Given the description of an element on the screen output the (x, y) to click on. 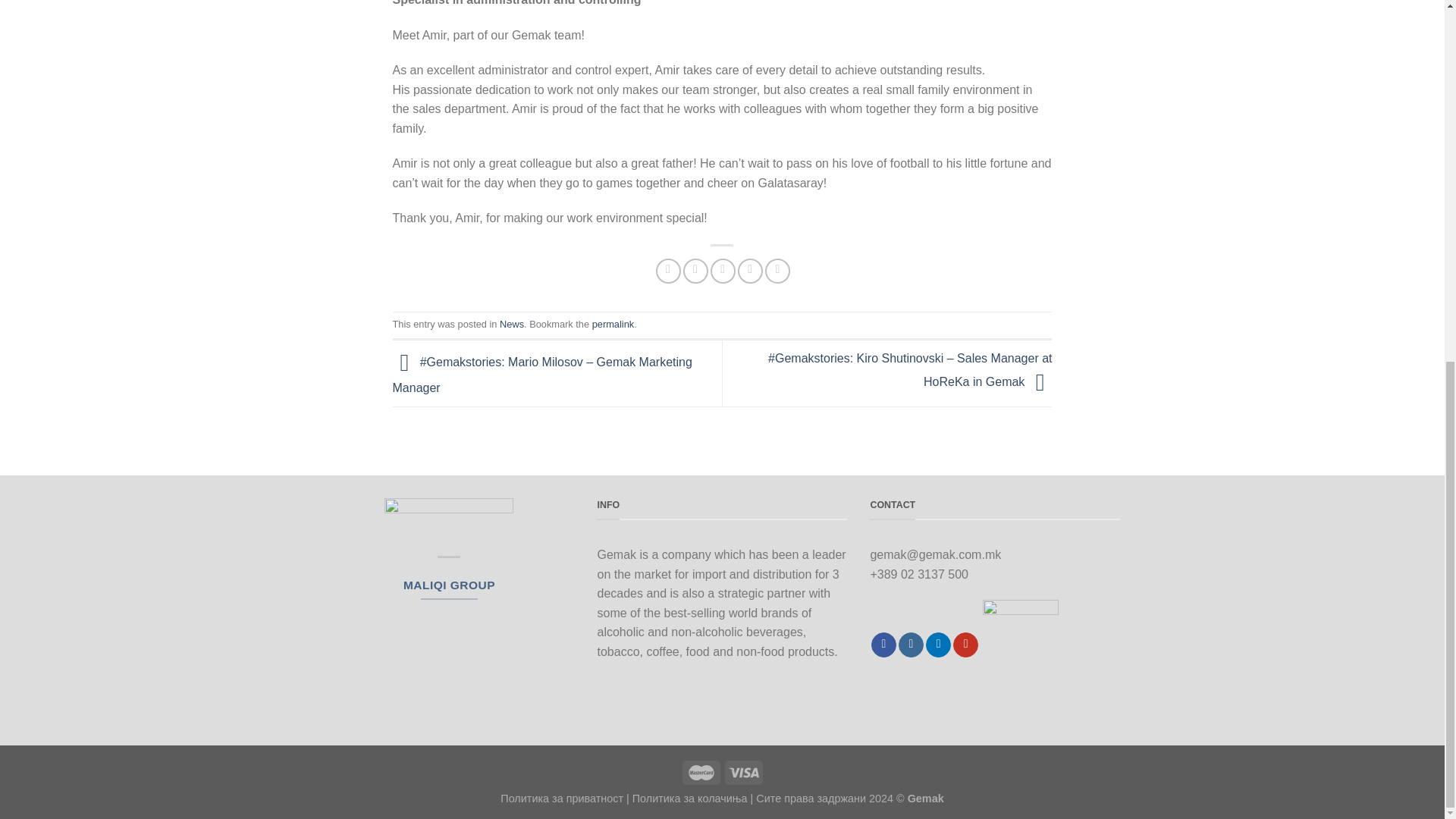
Share on LinkedIn (777, 270)
Follow on Instagram (910, 645)
News (511, 324)
Email to a Friend (722, 270)
MALIQI GROUP (449, 584)
Follow on Facebook (883, 645)
permalink (612, 324)
Pin on Pinterest (750, 270)
Follow on LinkedIn (938, 645)
Share on Facebook (668, 270)
